Given the description of an element on the screen output the (x, y) to click on. 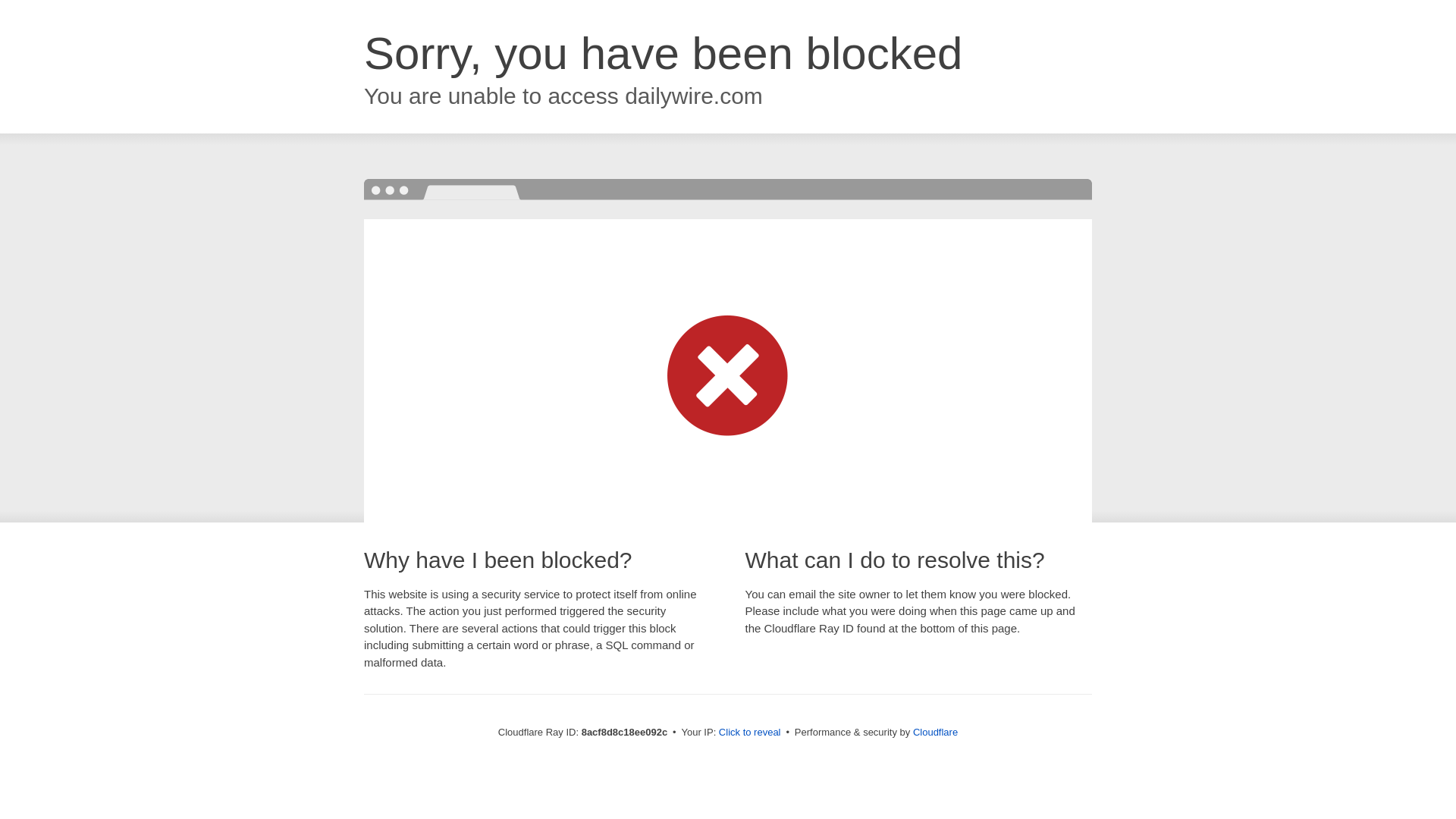
Click to reveal (749, 732)
Cloudflare (935, 731)
